Given the description of an element on the screen output the (x, y) to click on. 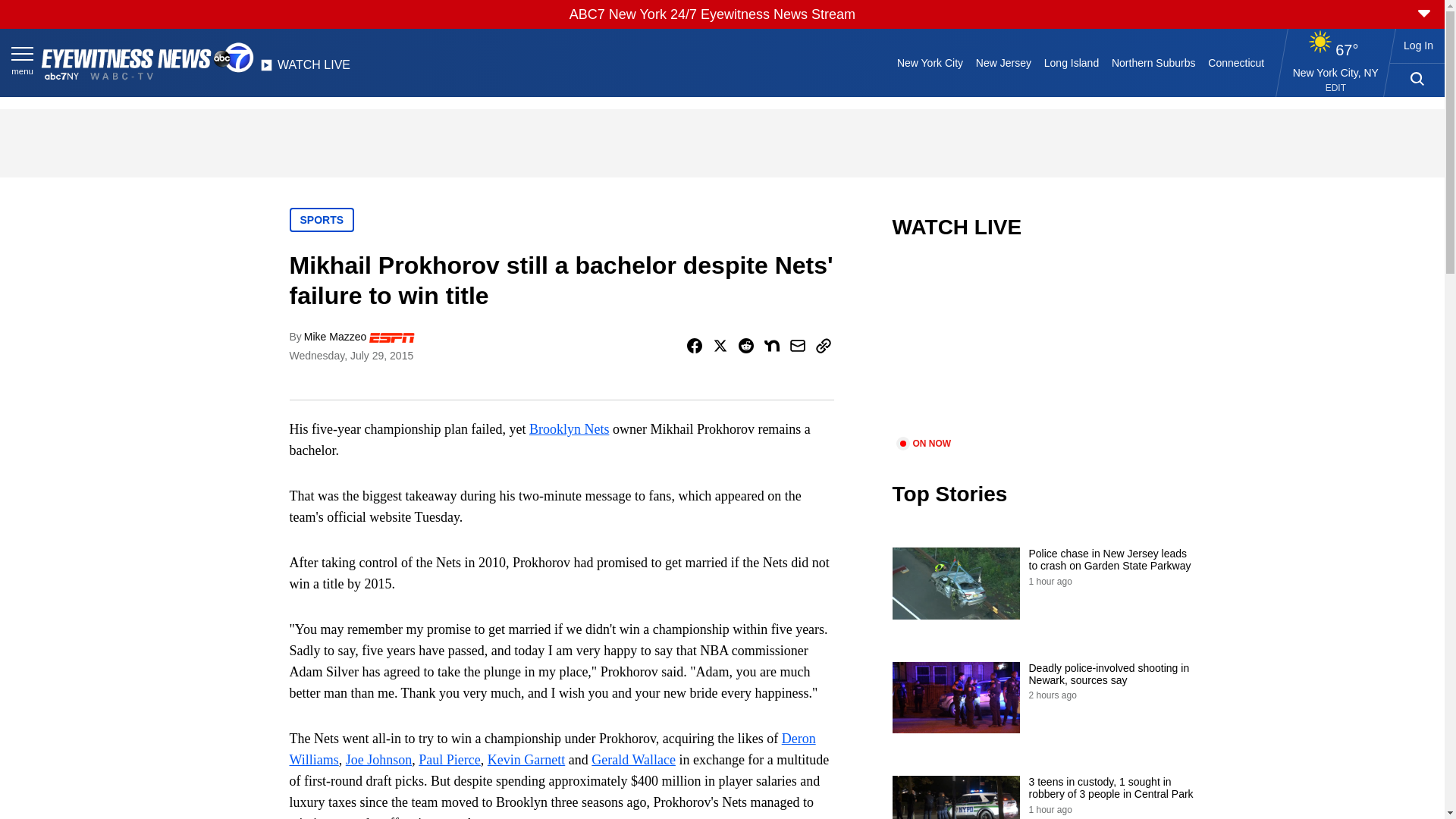
EDIT (1334, 87)
New York City, NY (1335, 72)
video.title (1043, 347)
Northern Suburbs (1153, 62)
WATCH LIVE (305, 69)
New Jersey (1002, 62)
Connecticut (1236, 62)
New York City (930, 62)
Long Island (1070, 62)
